Given the description of an element on the screen output the (x, y) to click on. 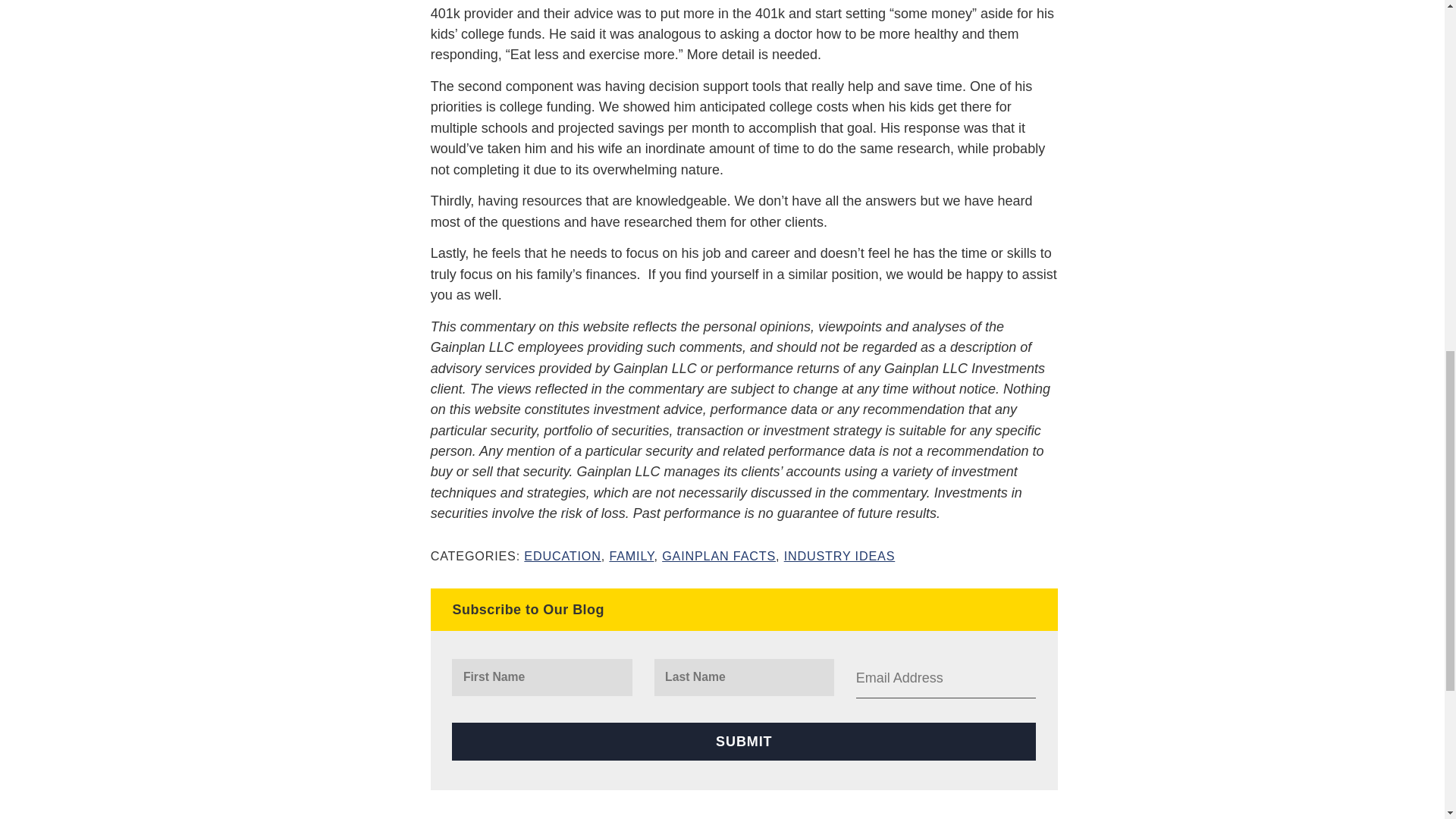
GAINPLAN FACTS (719, 555)
INDUSTRY IDEAS (839, 555)
EDUCATION (561, 555)
FAMILY (630, 555)
Submit (743, 741)
Submit (743, 741)
